Given the description of an element on the screen output the (x, y) to click on. 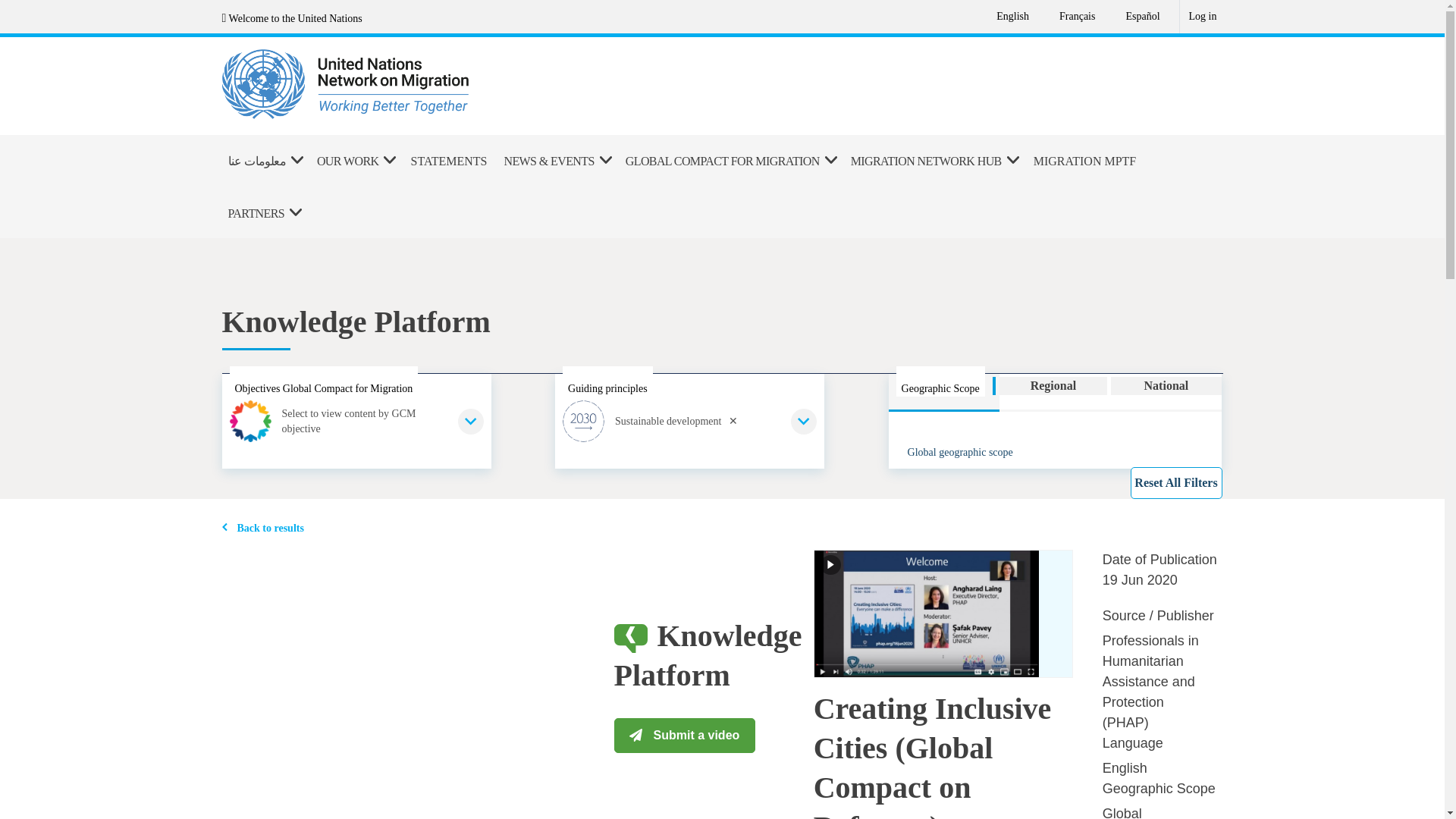
Select to view content by GCM objective (355, 420)
Sustainable development (689, 420)
Home (423, 83)
